Given the description of an element on the screen output the (x, y) to click on. 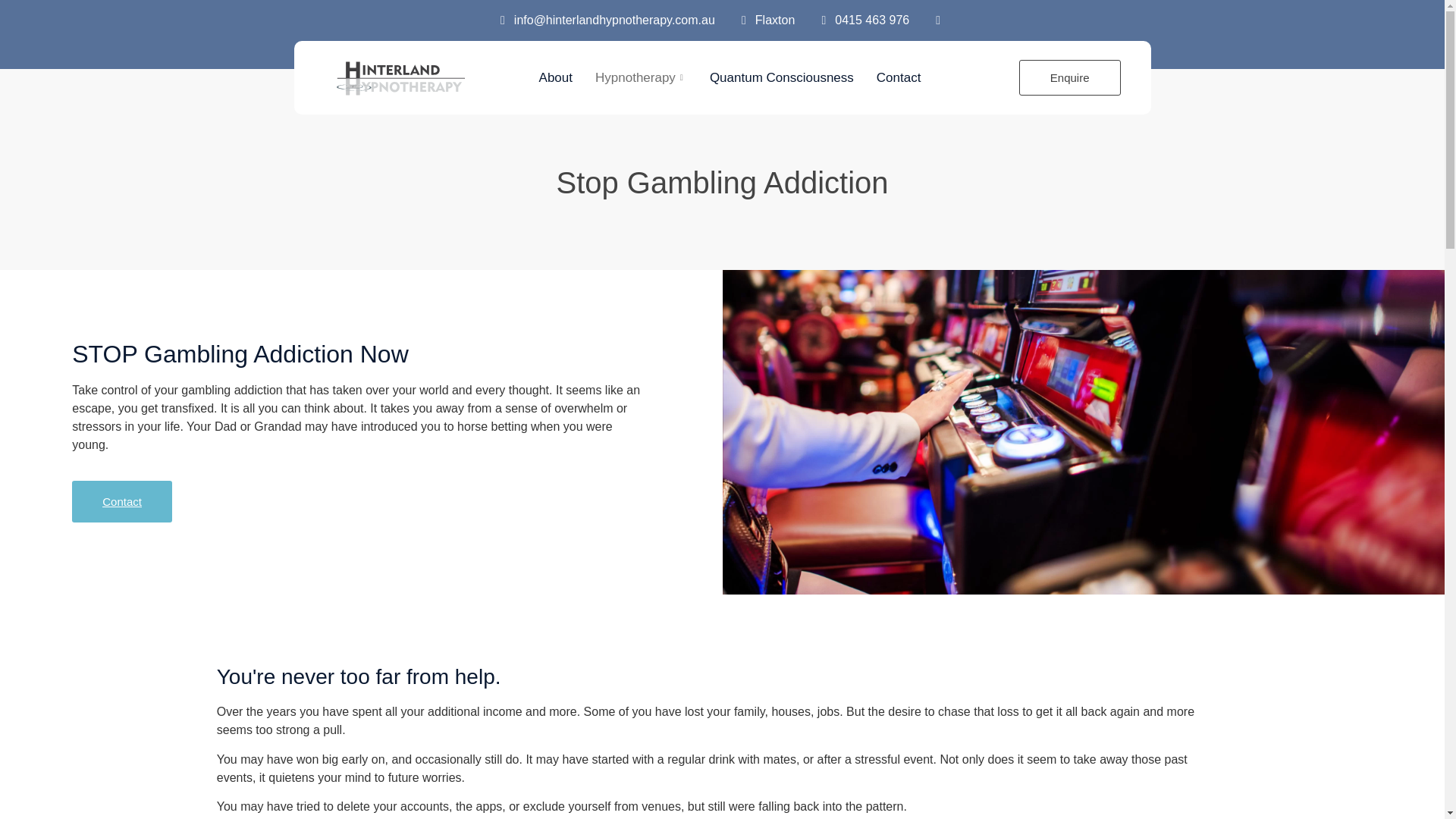
Quantum Consciousness (781, 77)
Hypnotherapy (640, 77)
Enquire (1070, 77)
0415 463 976 (861, 20)
Contact (898, 77)
Contact (121, 501)
About (555, 77)
